Given the description of an element on the screen output the (x, y) to click on. 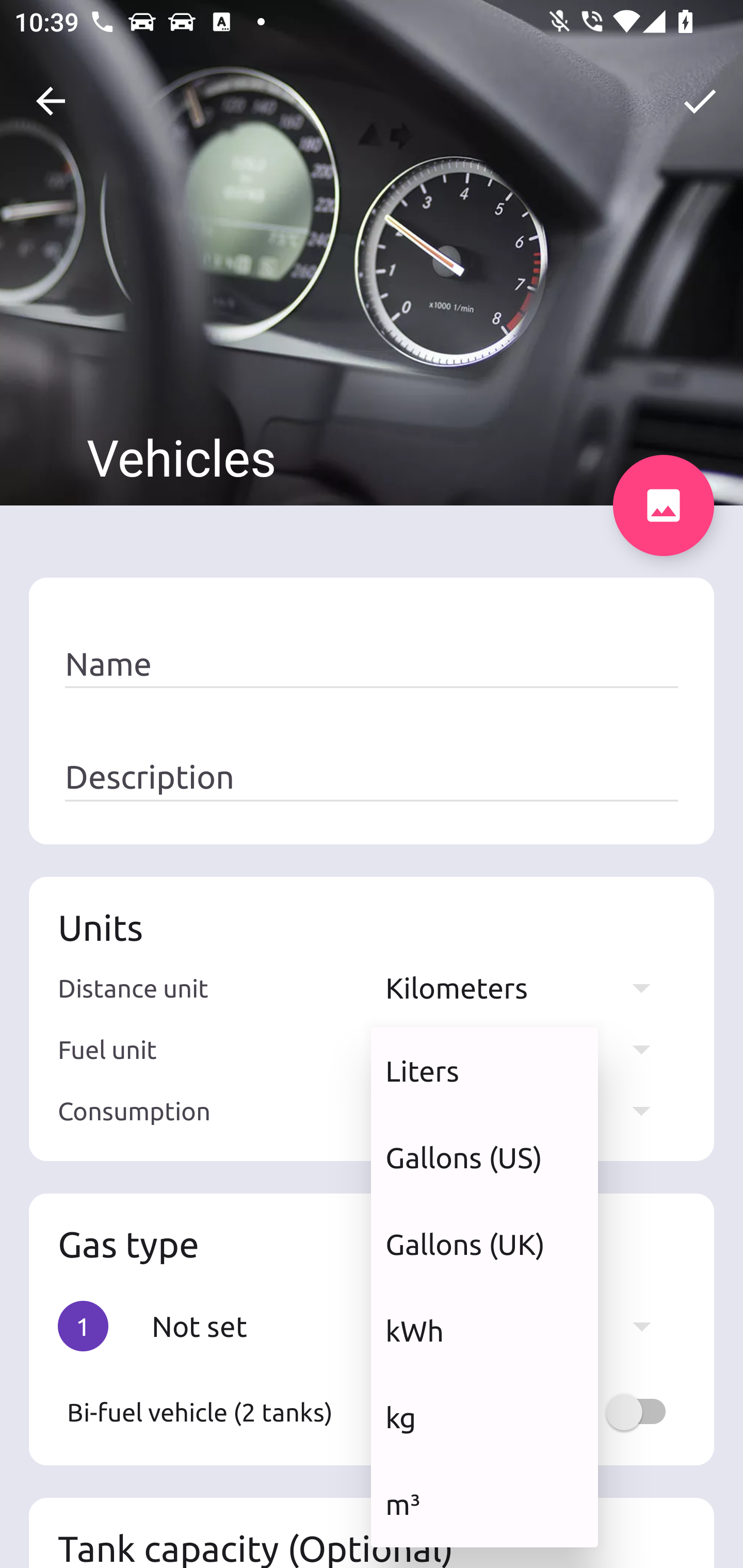
Liters (484, 1070)
Gallons (US) (484, 1157)
Gallons (UK) (484, 1244)
kWh (484, 1330)
kg (484, 1417)
m³ (484, 1504)
